Given the description of an element on the screen output the (x, y) to click on. 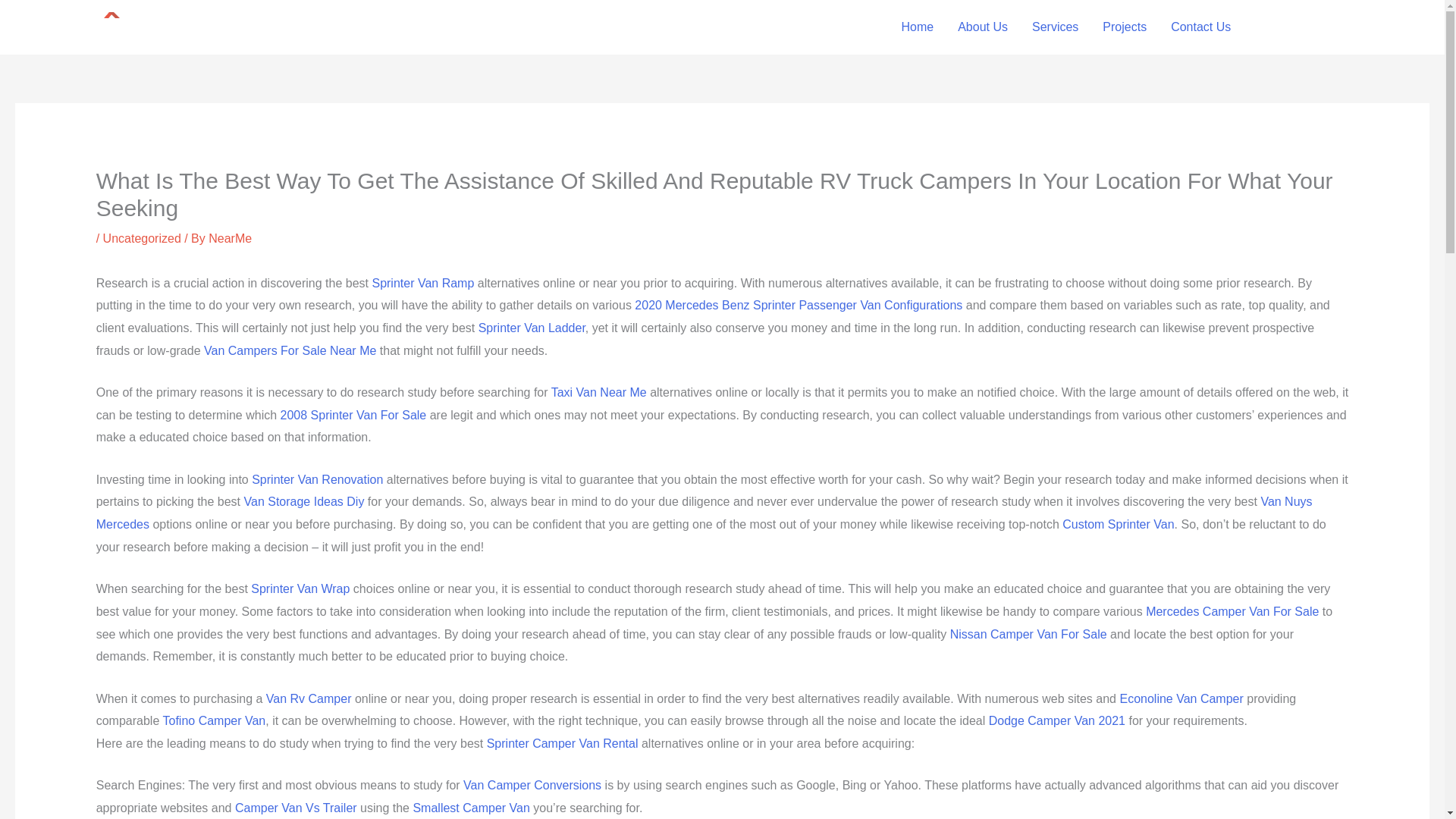
2020 Mercedes Benz Sprinter Passenger Van Configurations (798, 305)
Van Campers For Sale Near Me (289, 350)
Uncategorized (141, 237)
Get a Free Estimate (1343, 26)
Sprinter Camper Van Rental (562, 743)
Van Rv Camper (309, 698)
View all posts by NearMe (229, 237)
Sprinter Van Ladder (532, 327)
Mercedes Camper Van For Sale (1232, 611)
Custom Sprinter Van (1117, 523)
Van Camper Conversions (532, 784)
Contact Us (1200, 27)
NearMe (229, 237)
Tofino Camper Van (212, 720)
Camper Van Vs Trailer (295, 807)
